Given the description of an element on the screen output the (x, y) to click on. 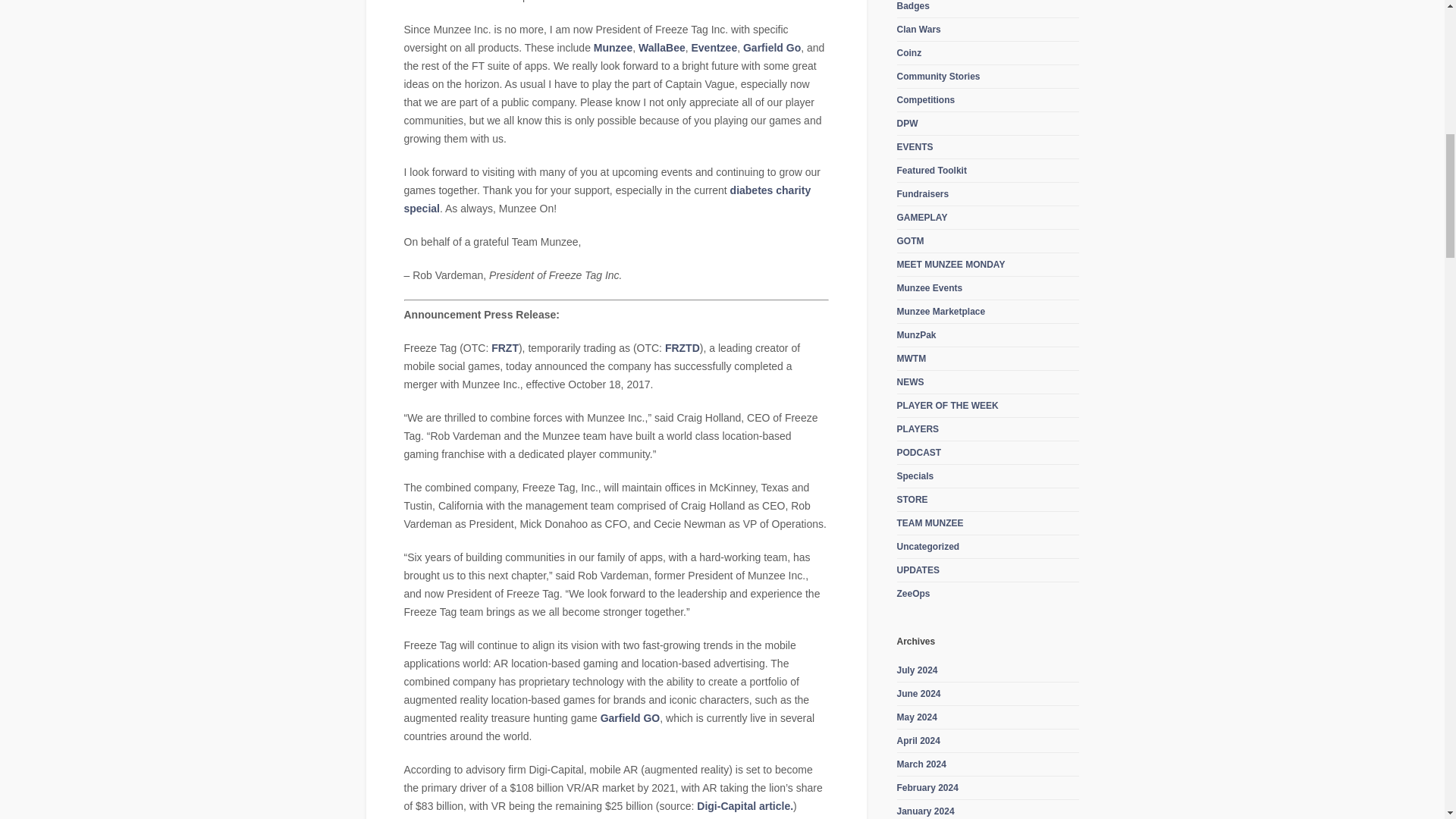
Garfield Go (769, 47)
Munzee (612, 47)
FRZT (505, 347)
diabetes charity special (606, 199)
FRZTD (682, 347)
Garfield GO (630, 717)
Eventzee (713, 47)
Digi-Capital article. (745, 806)
WallaBee (662, 47)
